Given the description of an element on the screen output the (x, y) to click on. 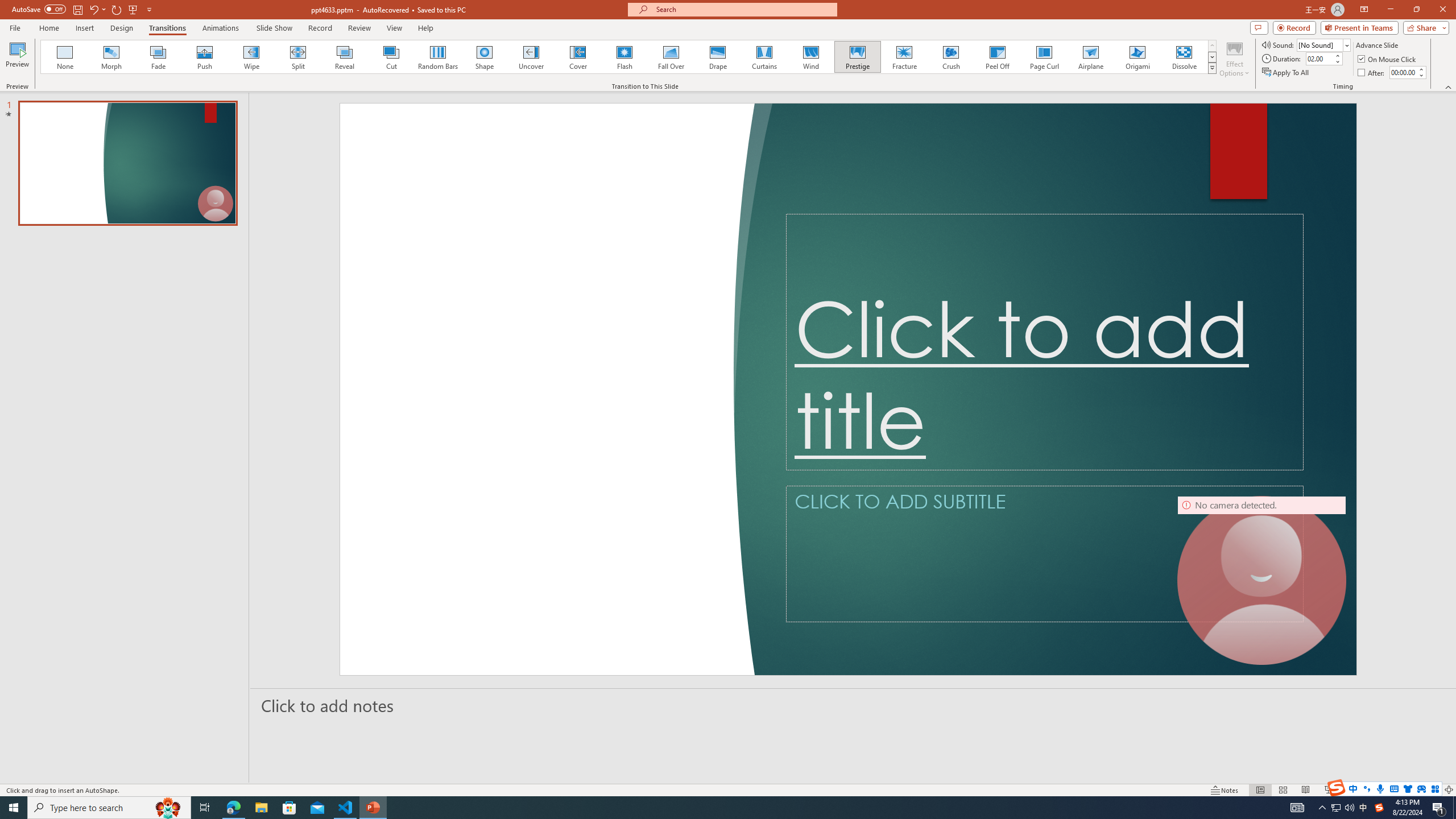
None (65, 56)
Effect Options (1234, 58)
Wipe (251, 56)
Wind (810, 56)
Crush (950, 56)
